Given the description of an element on the screen output the (x, y) to click on. 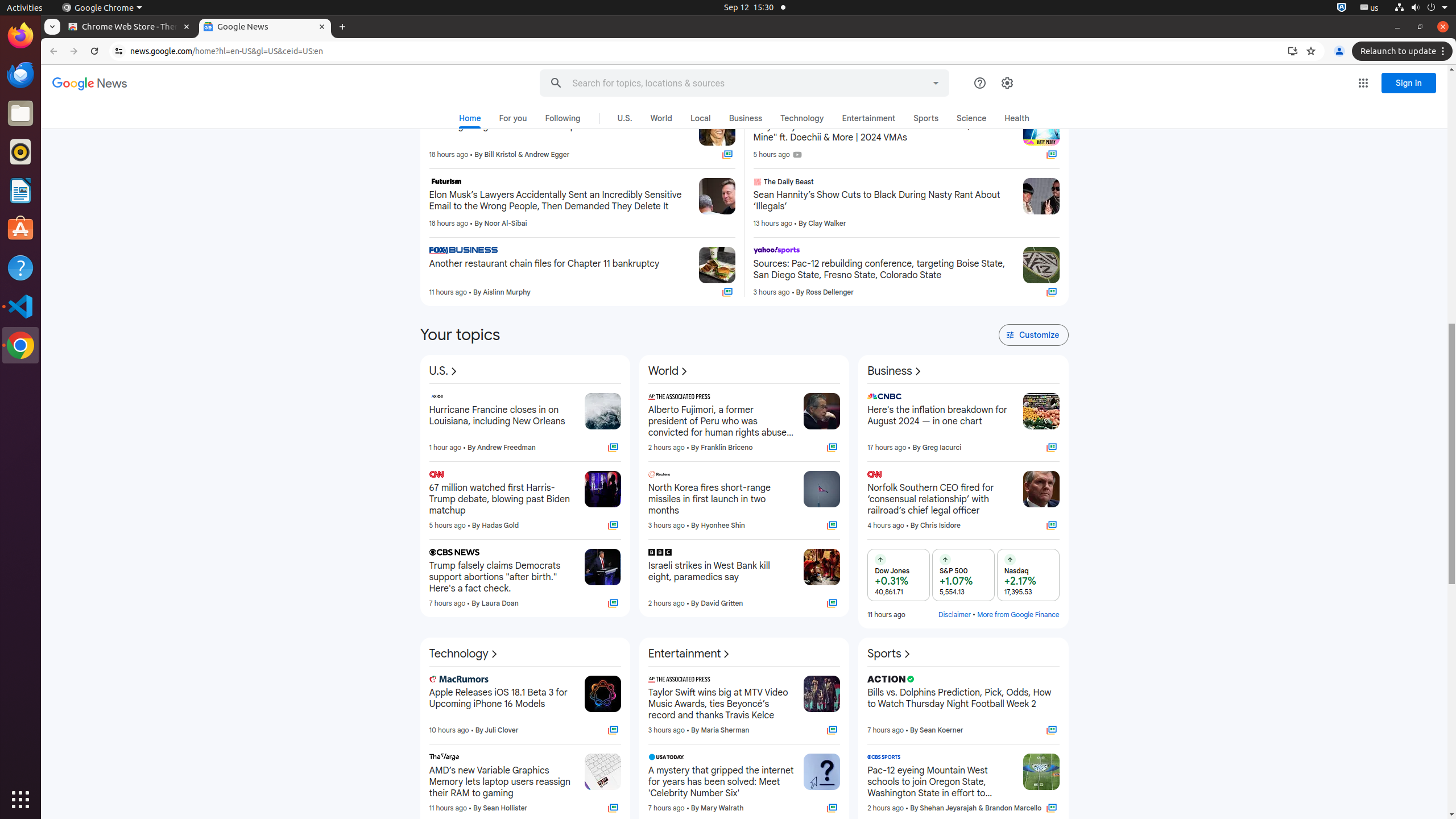
More - 67 million watched first Harris-Trump debate, blowing past Biden matchup Element type: push-button (571, 476)
North Korea fires short-range missiles in first launch in two months Element type: link (721, 499)
Google News - Memory usage - 40.9 MB Element type: page-tab (264, 26)
:1.72/StatusNotifierItem Element type: menu (1341, 7)
Sean Hannity’s Show Cuts to Black During Nasty Rant About ‘Illegals’ Element type: link (883, 200)
